Given the description of an element on the screen output the (x, y) to click on. 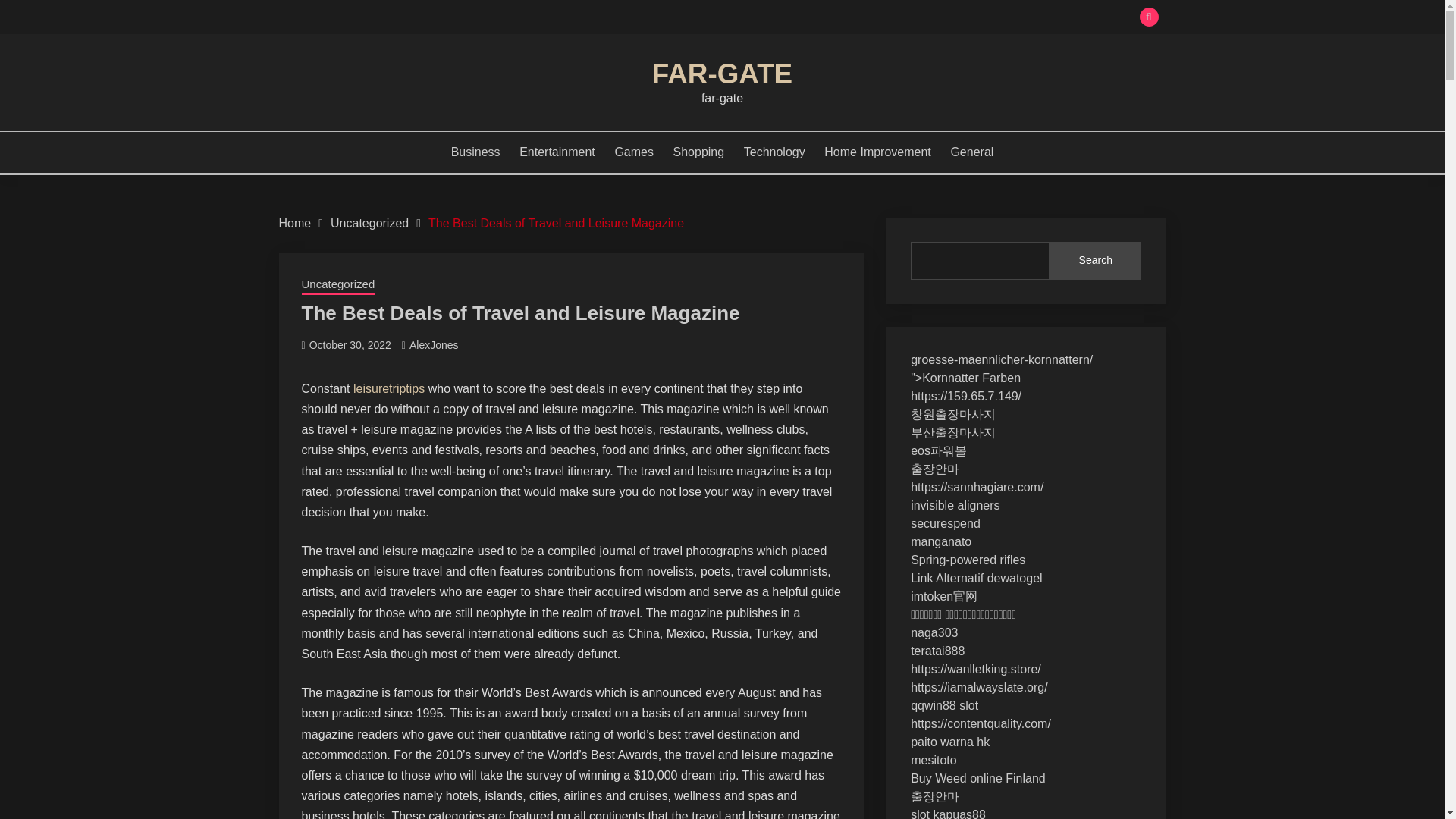
Games (633, 152)
October 30, 2022 (349, 345)
FAR-GATE (722, 73)
leisuretriptips (389, 388)
Business (475, 152)
The Best Deals of Travel and Leisure Magazine (556, 223)
Home (295, 223)
Uncategorized (369, 223)
Technology (774, 152)
Home Improvement (877, 152)
